Given the description of an element on the screen output the (x, y) to click on. 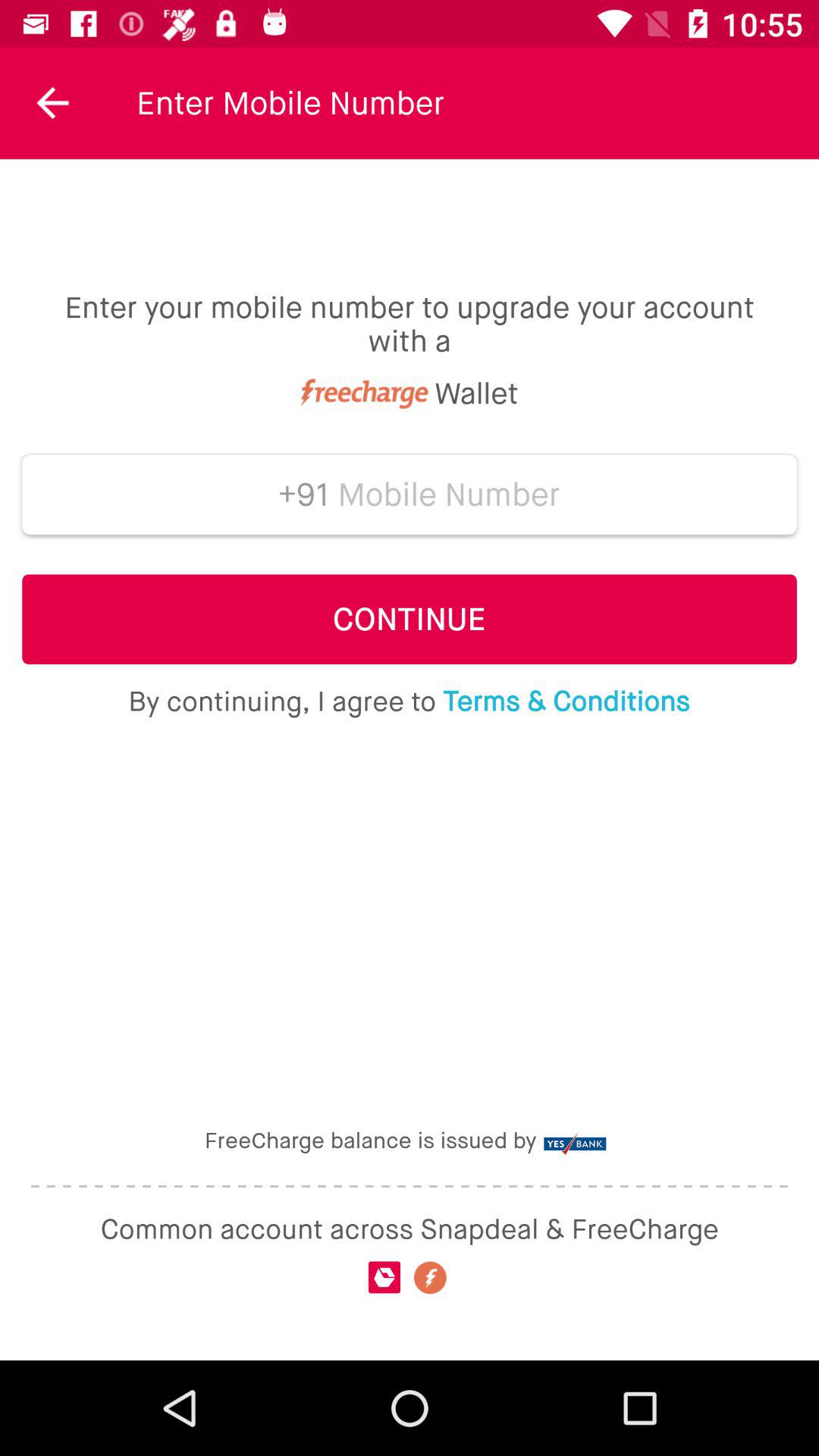
auto fill my number (448, 494)
